Given the description of an element on the screen output the (x, y) to click on. 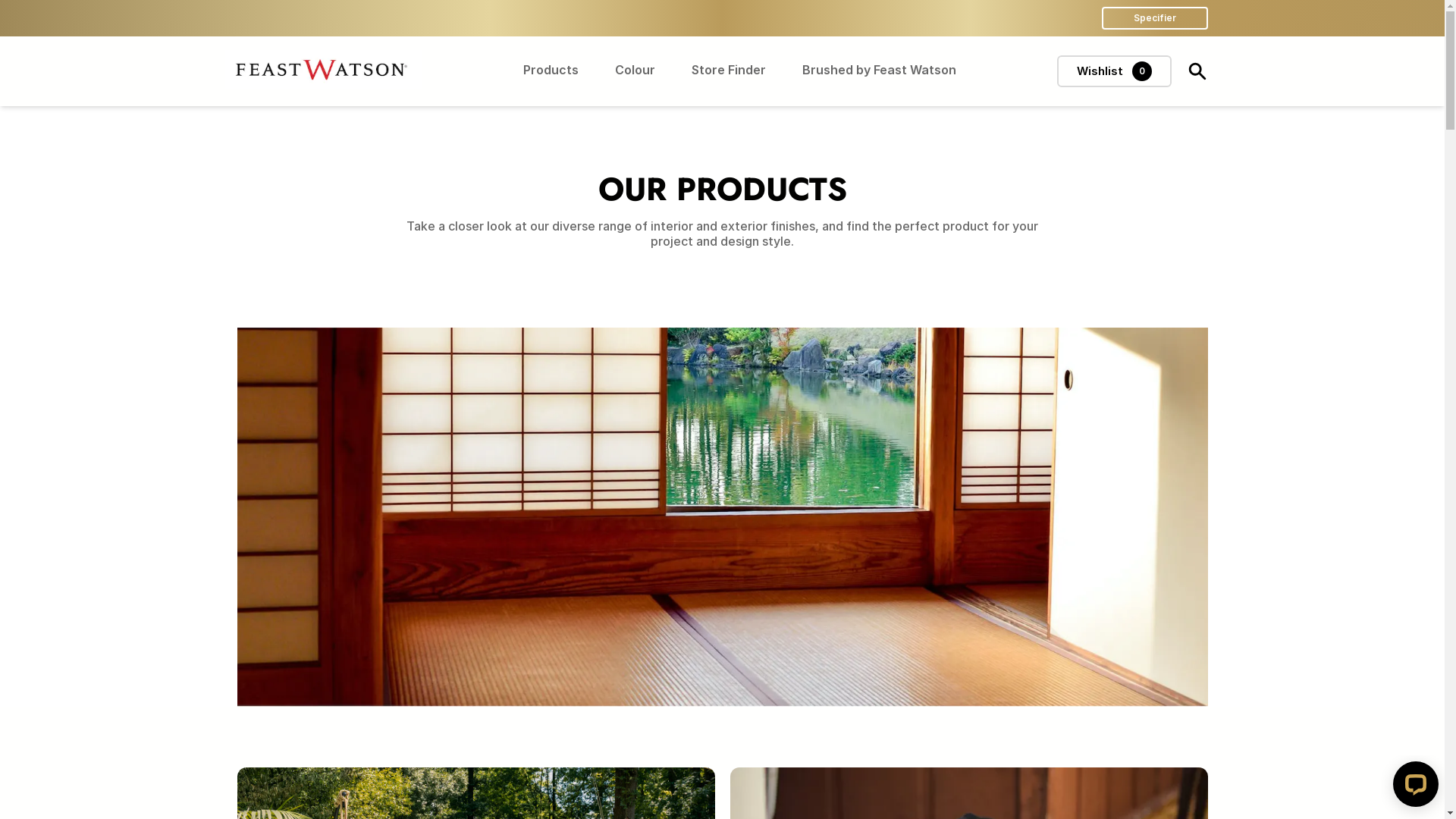
Brushed by Feast Watson Element type: text (879, 71)
Wishlist
0 Element type: text (1113, 71)
Colour Element type: text (634, 71)
Specifier Element type: text (1154, 17)
Products Element type: text (550, 71)
Store Finder Element type: text (728, 71)
Wishlist
0 Element type: text (1114, 71)
